Given the description of an element on the screen output the (x, y) to click on. 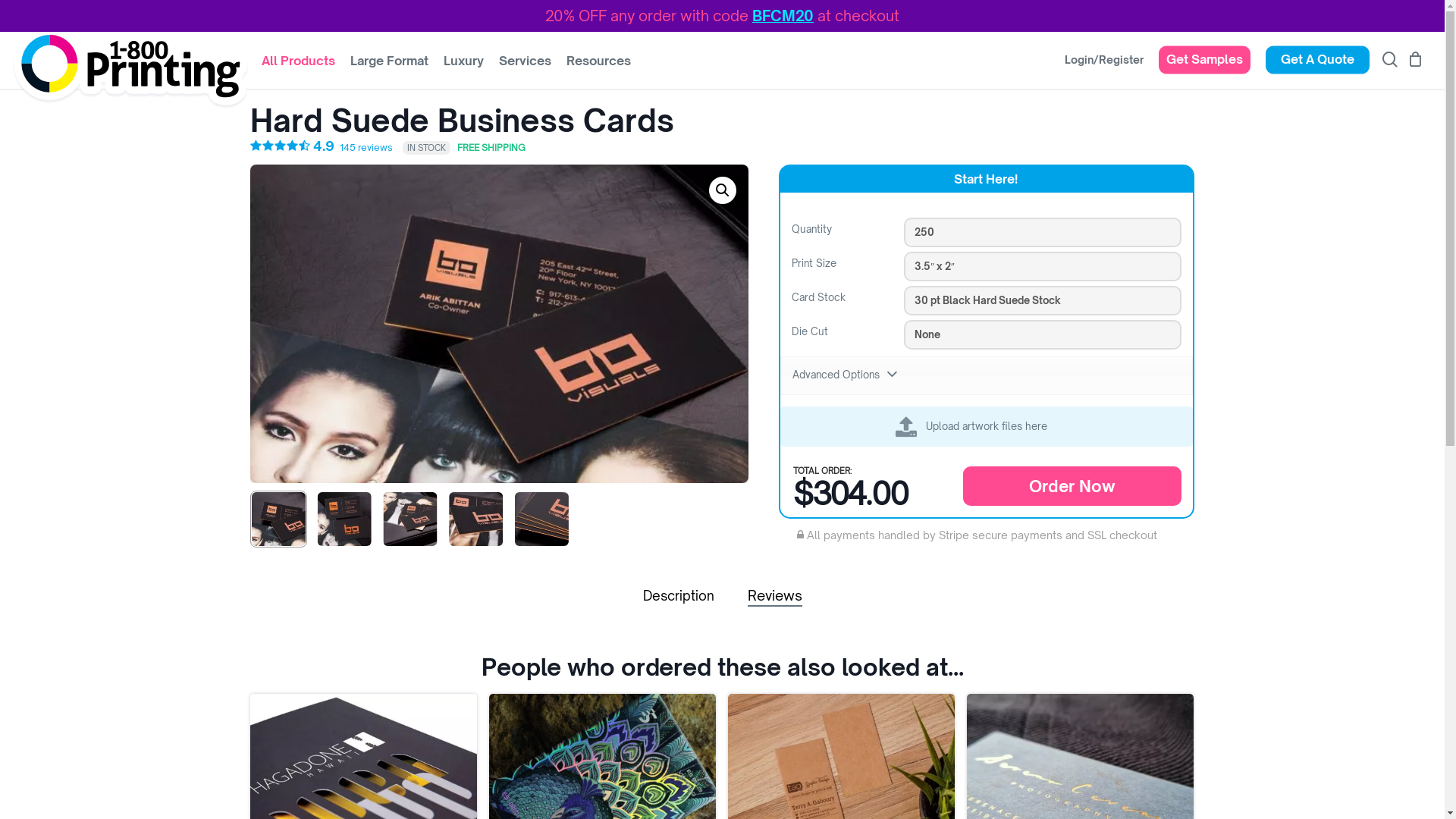
Description Element type: text (678, 596)
Login/Register Element type: text (1104, 66)
Luxury Element type: text (463, 68)
search Element type: text (1389, 67)
Large Format Element type: text (389, 68)
Services Element type: text (524, 68)
All Products Element type: text (298, 68)
Resources Element type: text (598, 68)
Reviews (73) Element type: text (774, 595)
Get A Quote Element type: text (1317, 66)
4.9 145 reviews Element type: text (322, 147)
Order Now Element type: text (1072, 485)
Hard Suede Business Cards 2.jpg Element type: hover (499, 323)
Get Samples Element type: text (1204, 66)
